Given the description of an element on the screen output the (x, y) to click on. 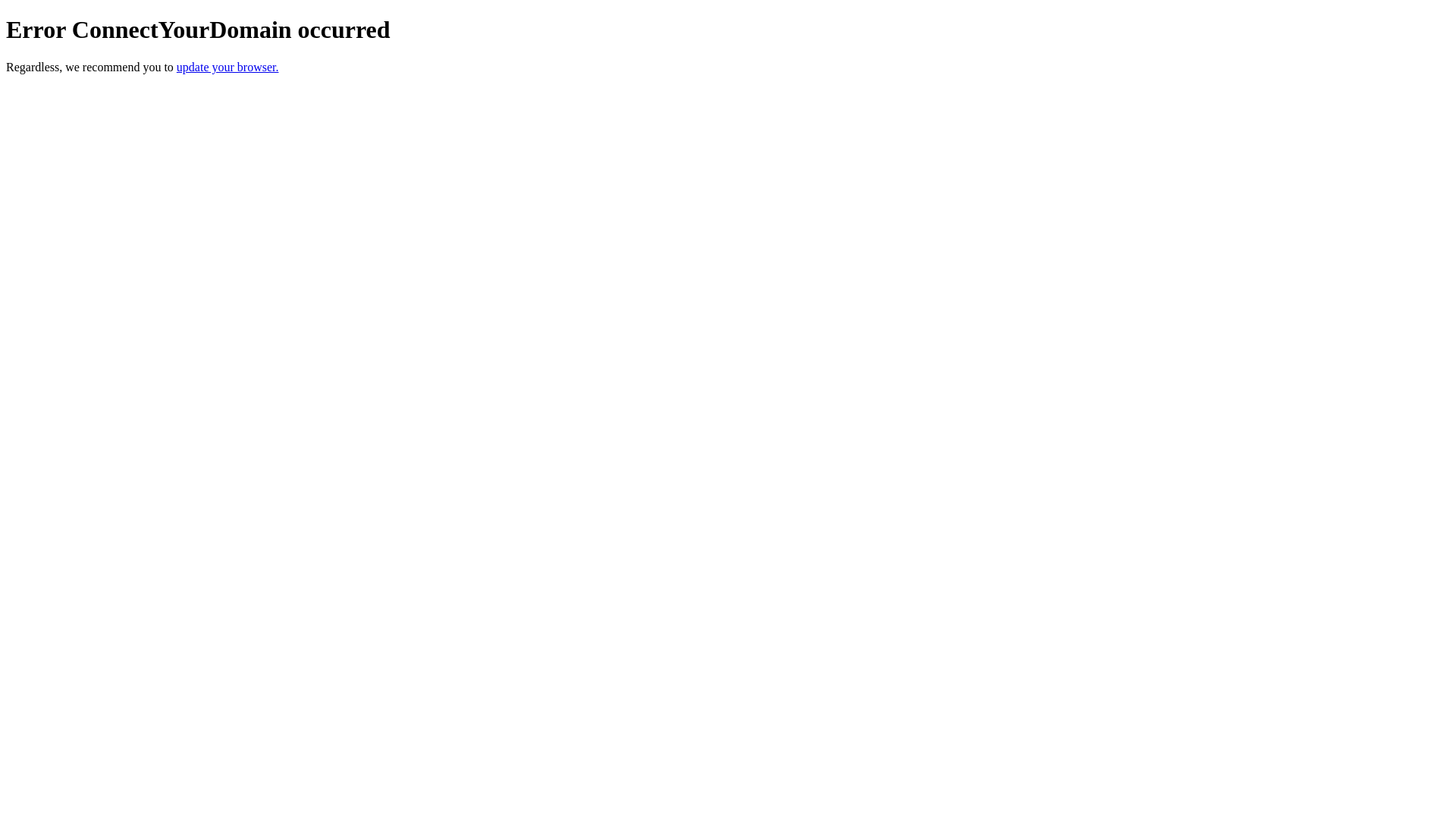
update your browser. Element type: text (227, 66)
